Given the description of an element on the screen output the (x, y) to click on. 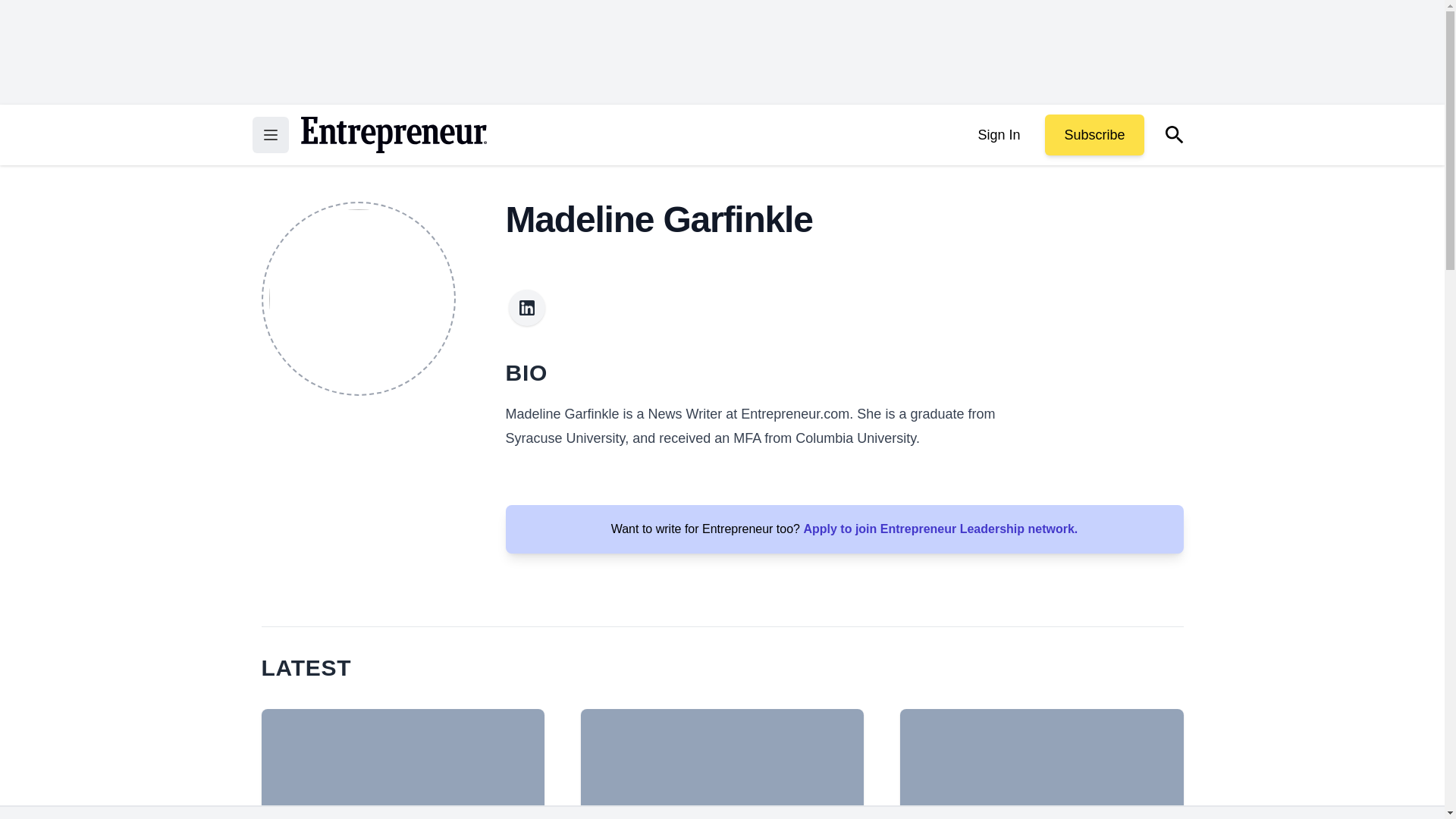
Sign In (998, 134)
Return to the home page (392, 135)
Subscribe (1093, 134)
linkedin (526, 307)
